Given the description of an element on the screen output the (x, y) to click on. 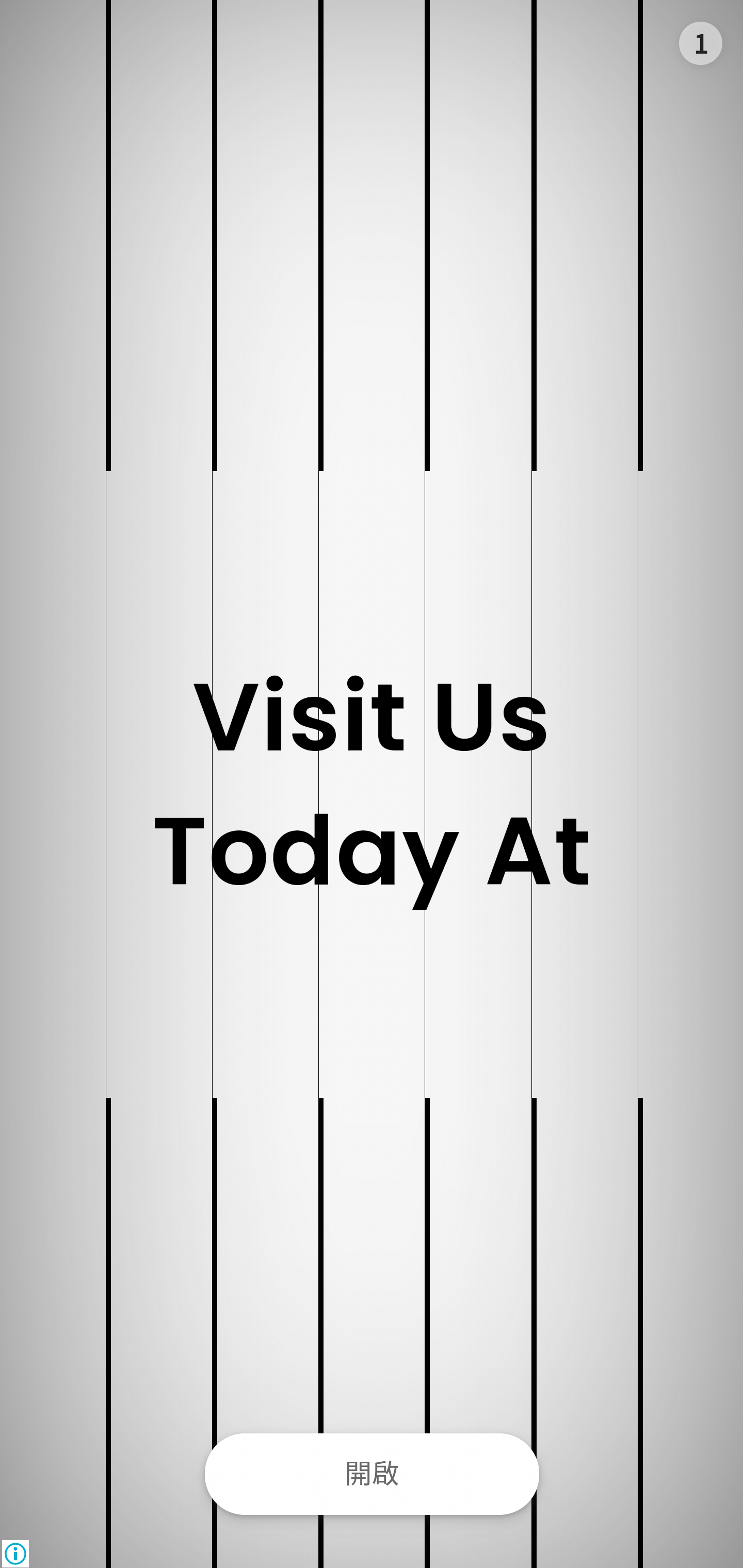
1 (700, 43)
Visit Us Today At Visit Us 
 Today At (371, 783)
開啟 (371, 1474)
